Given the description of an element on the screen output the (x, y) to click on. 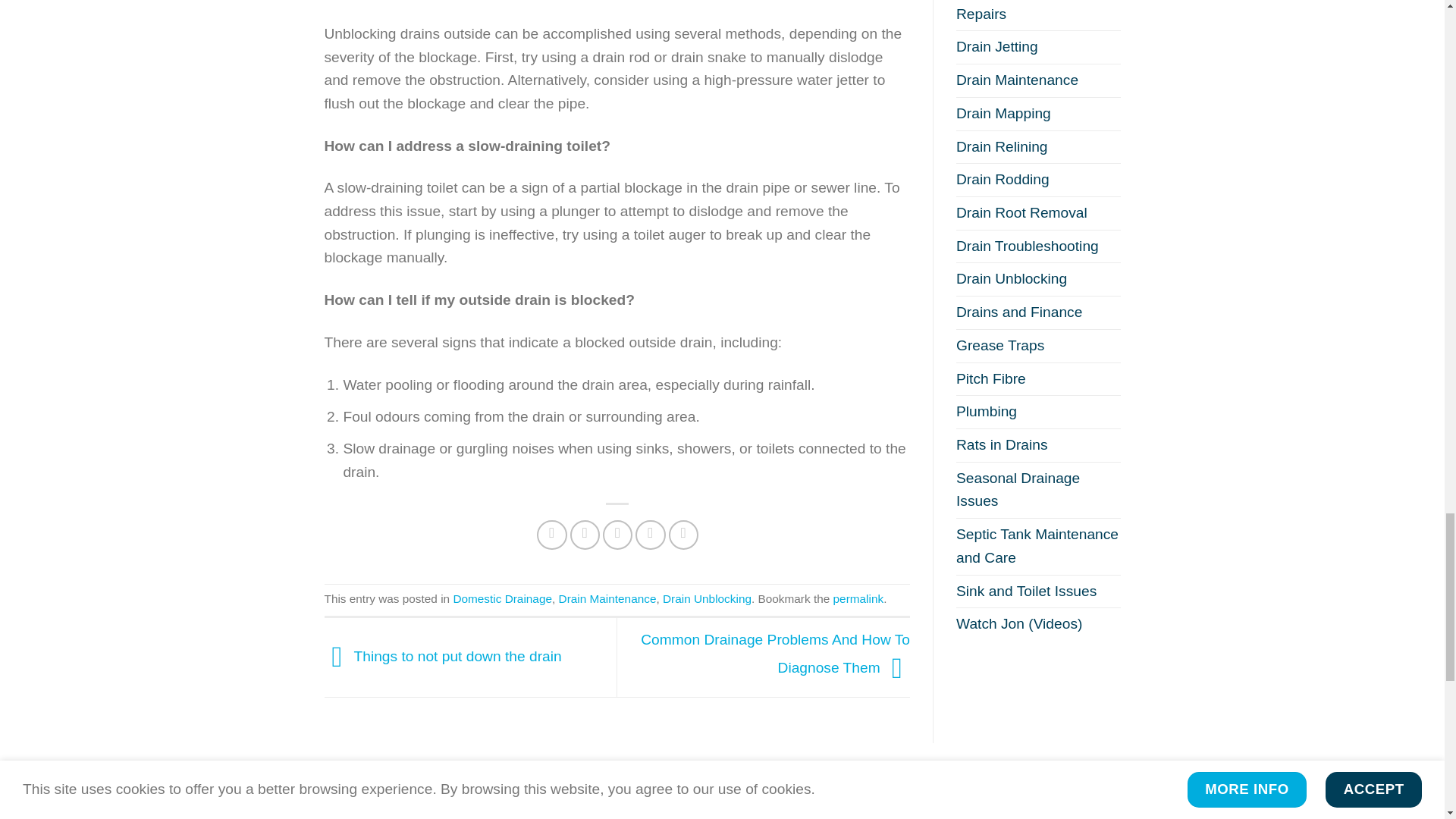
Share on Twitter (584, 535)
Email to a Friend (617, 535)
Share on LinkedIn (683, 535)
Share on Facebook (552, 535)
Pin on Pinterest (649, 535)
